Given the description of an element on the screen output the (x, y) to click on. 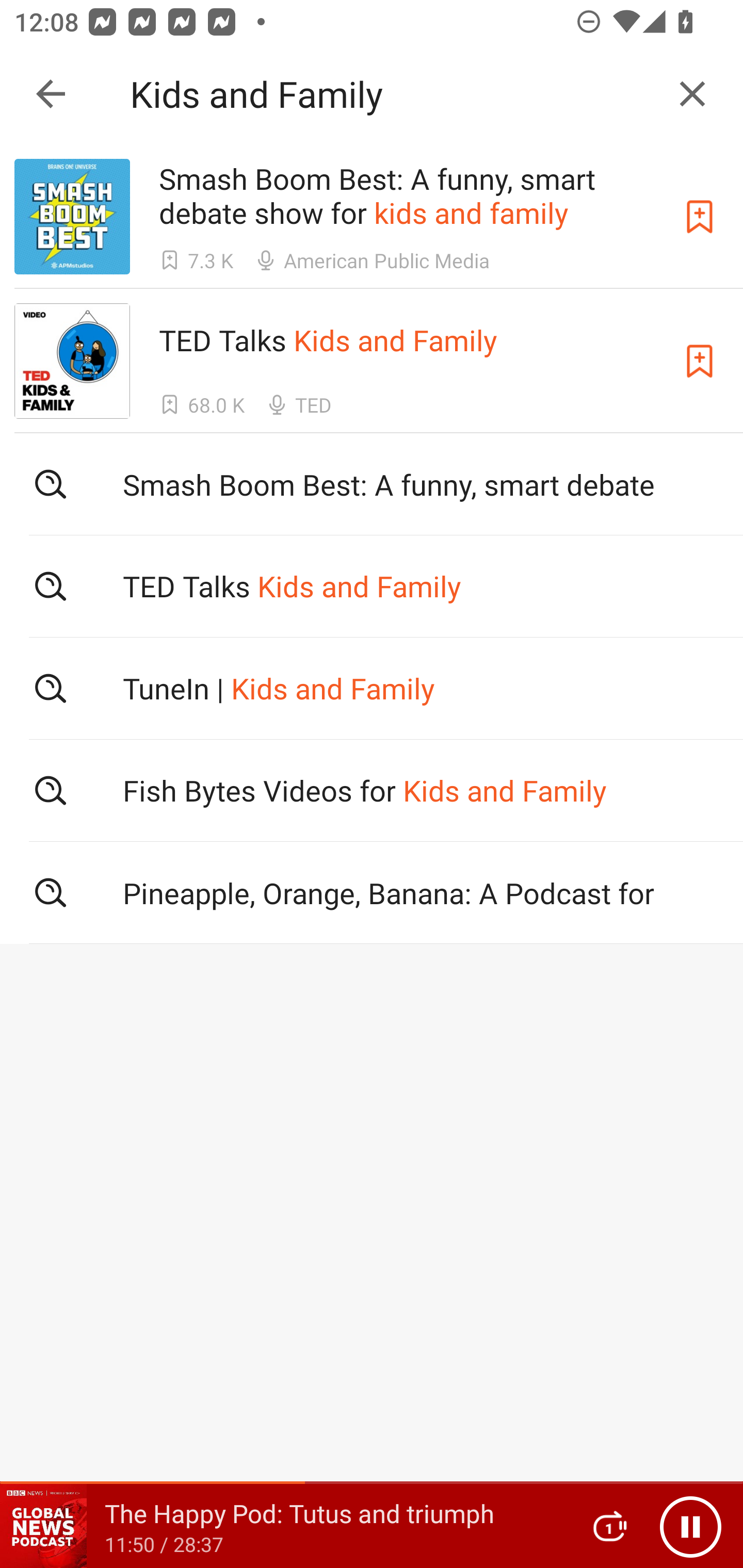
Collapse (50, 93)
Clear query (692, 93)
Kids and Family (393, 94)
Subscribe (699, 216)
Subscribe (699, 360)
 TED Talks Kids and Family (371, 585)
 TuneIn | Kids and Family (371, 688)
 Fish Bytes Videos for Kids and Family (371, 791)
The Happy Pod: Tutus and triumph 11:50 / 28:37 (283, 1525)
Pause (690, 1526)
